Given the description of an element on the screen output the (x, y) to click on. 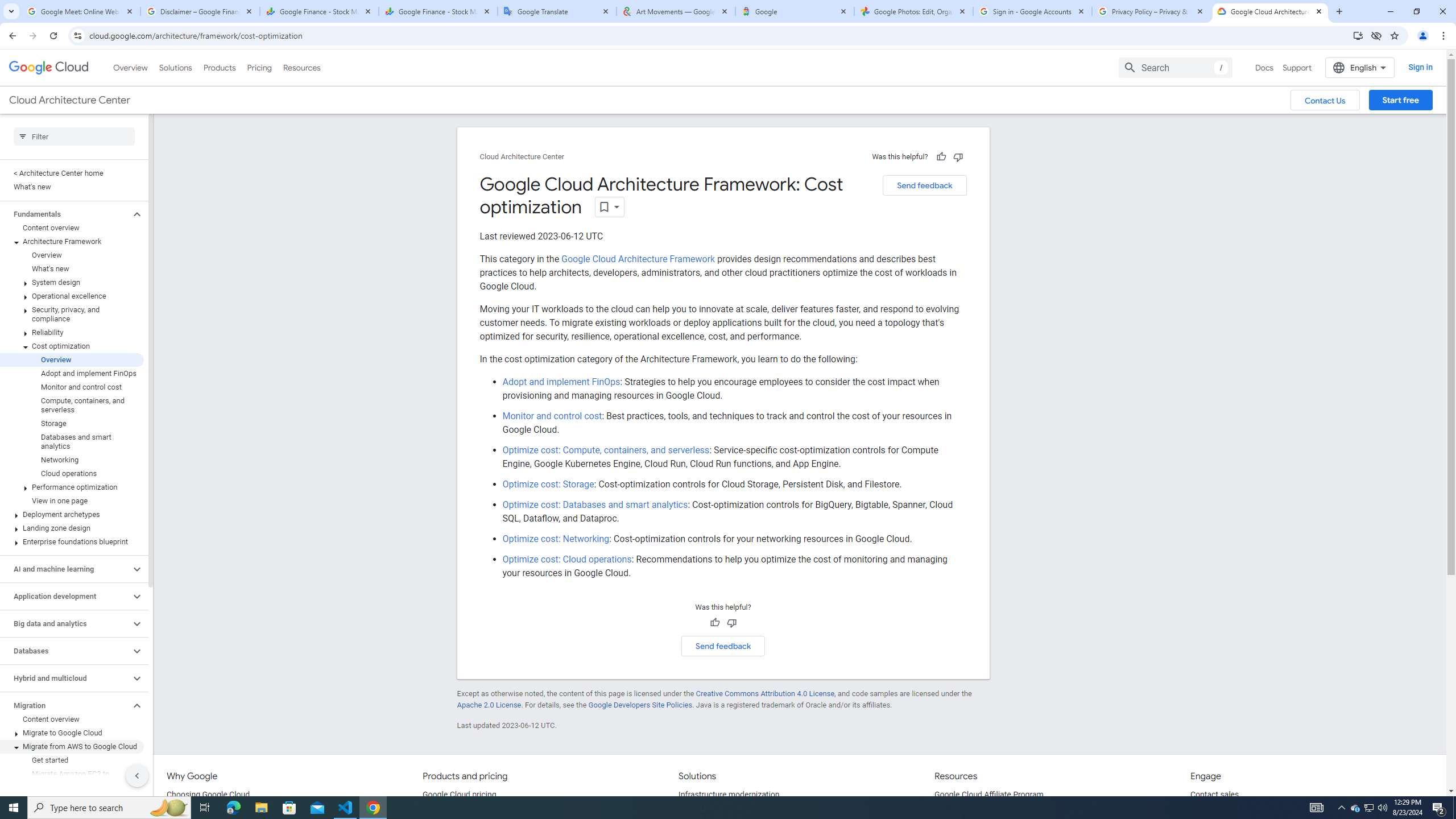
Operational excellence (72, 296)
Contact sales (1215, 795)
Databases (64, 650)
Open dropdown (609, 206)
Apache 2.0 License (489, 705)
< Architecture Center home (72, 173)
Products (218, 67)
Google Translate (556, 11)
Google (794, 11)
Migrate Amazon S3 to Cloud Storage (72, 801)
Pricing (259, 67)
Google Cloud Architecture Framework (638, 258)
